Given the description of an element on the screen output the (x, y) to click on. 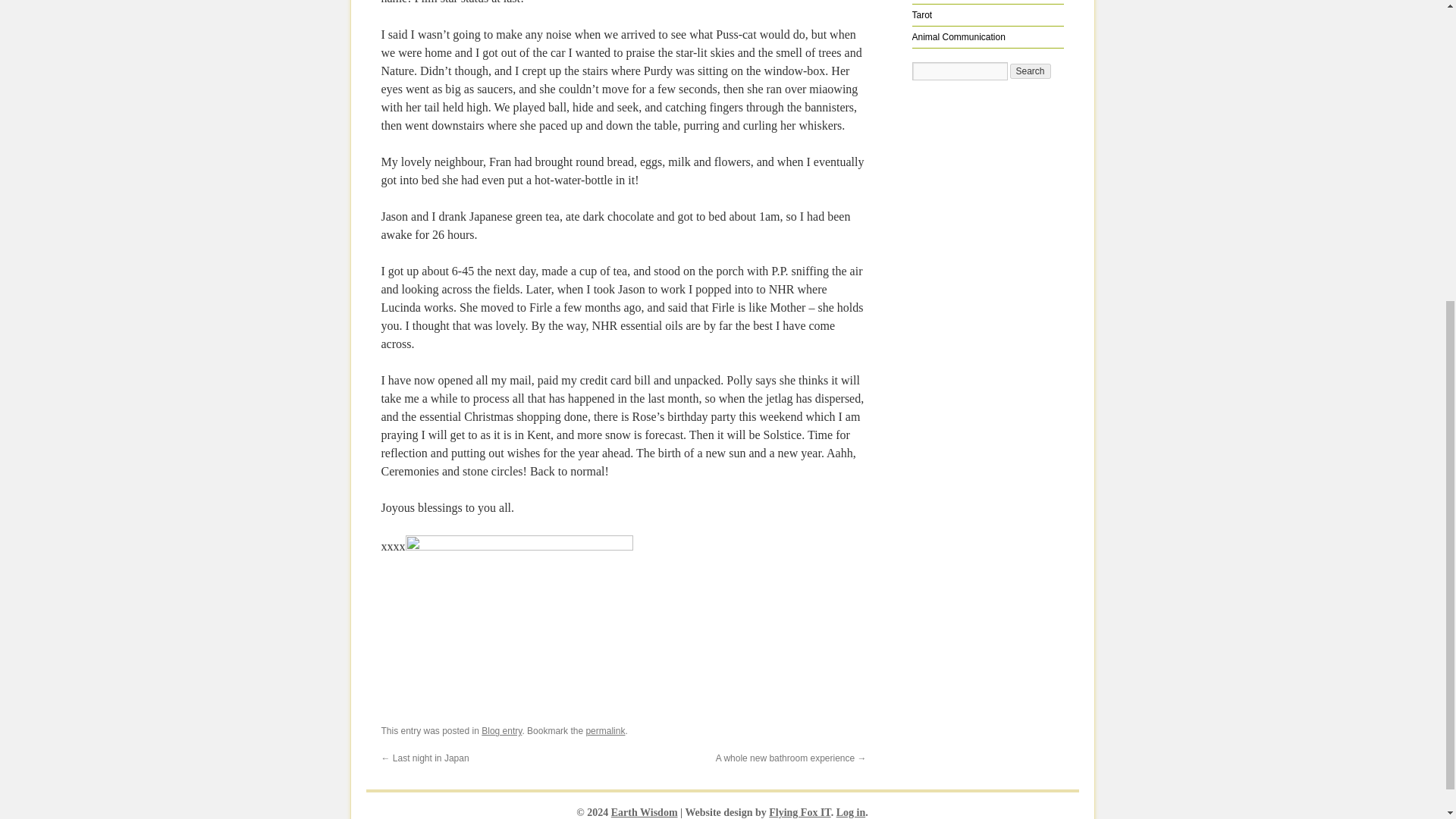
Search (1030, 70)
Animal Communication (957, 36)
Tarot (921, 14)
Earth Wisdom (644, 812)
Blog entry (501, 730)
Permalink to Home!! (604, 730)
Log in (850, 812)
Flying Fox IT (798, 812)
permalink (604, 730)
Search (1030, 70)
